Given the description of an element on the screen output the (x, y) to click on. 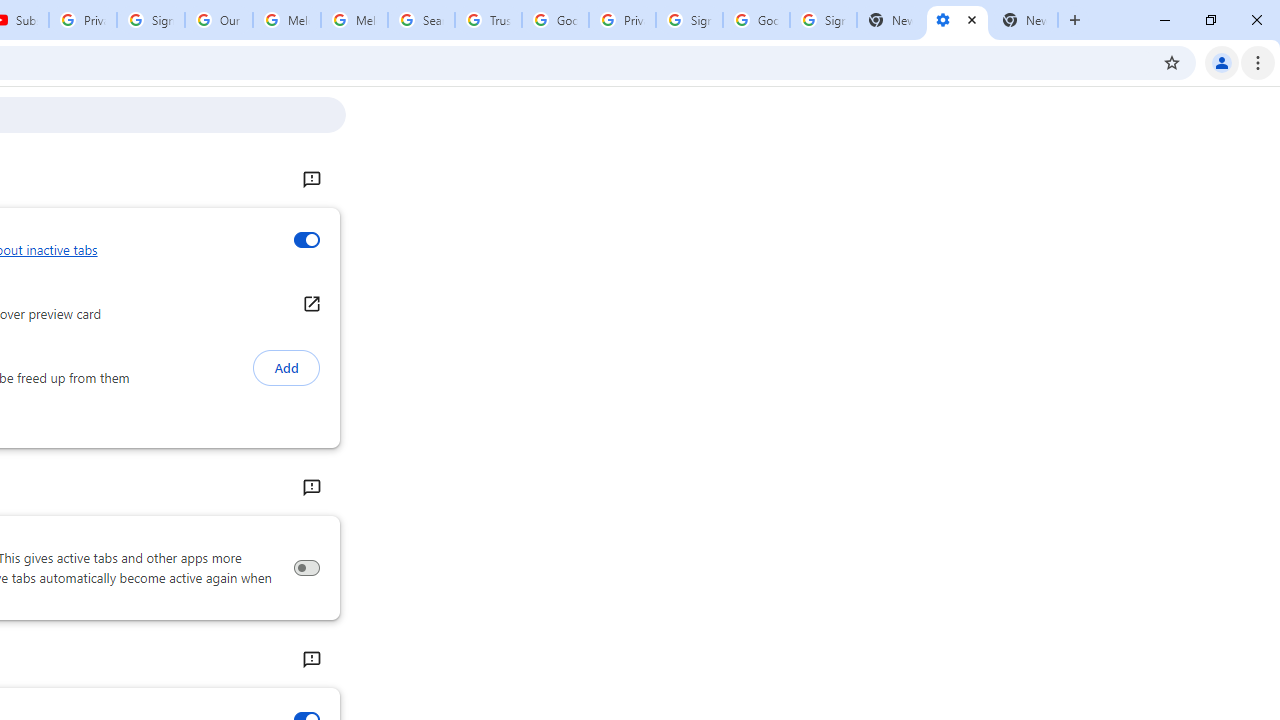
Add to the "always keep these sites active" list (286, 368)
Sign in - Google Accounts (689, 20)
New Tab (1024, 20)
Google Cybersecurity Innovations - Google Safety Center (756, 20)
Speed (310, 659)
Search our Doodle Library Collection - Google Doodles (420, 20)
Memory (310, 488)
